Given the description of an element on the screen output the (x, y) to click on. 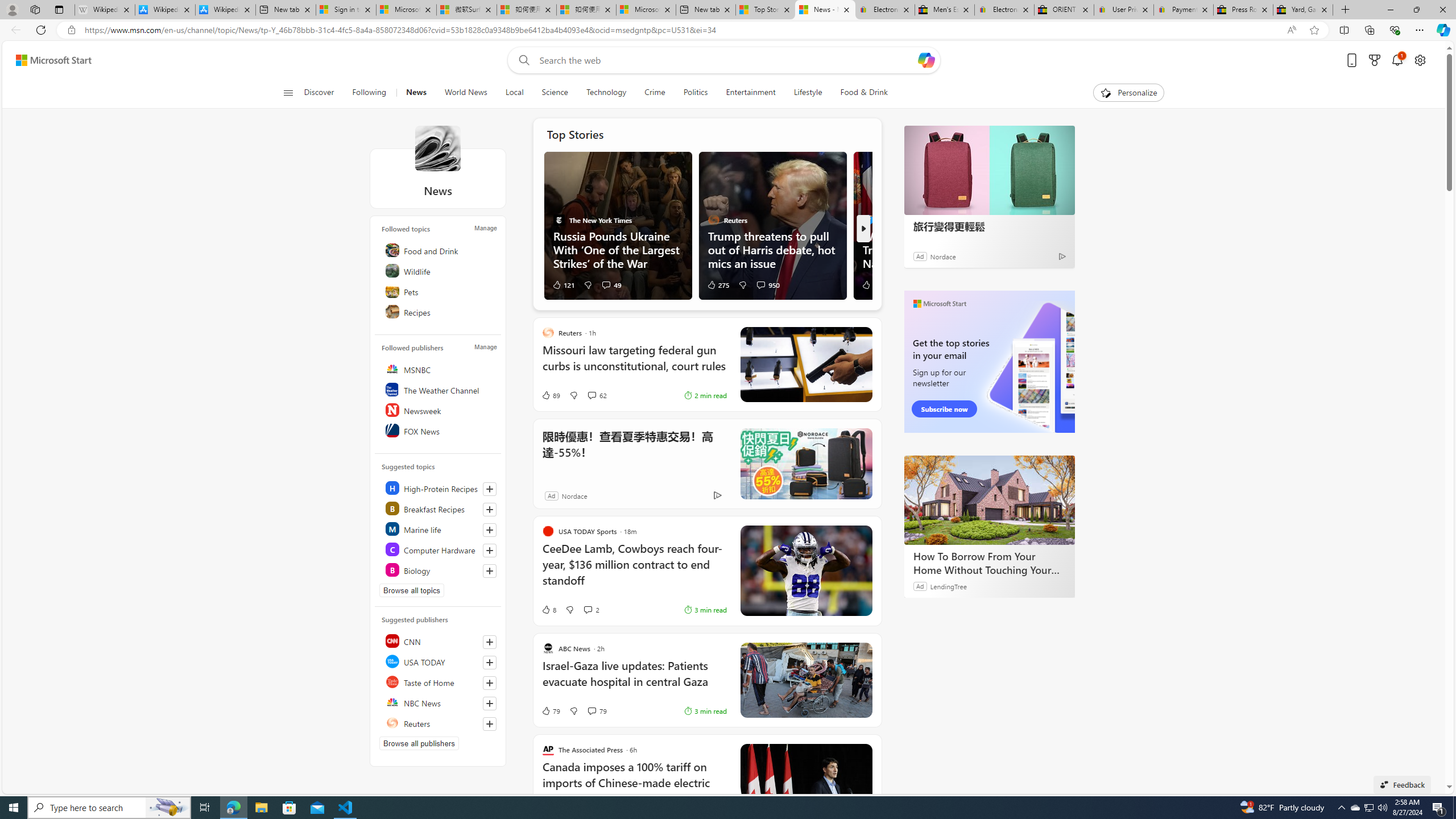
App bar (728, 29)
Class: highlight (439, 570)
Following (368, 92)
Browse all topics (412, 590)
Enter your search term (726, 59)
User Privacy Notice | eBay (1123, 9)
Politics (694, 92)
Crime (654, 92)
Follow this source (489, 723)
Local (514, 92)
CNN (439, 641)
View comments 950 Comment (760, 284)
